Given the description of an element on the screen output the (x, y) to click on. 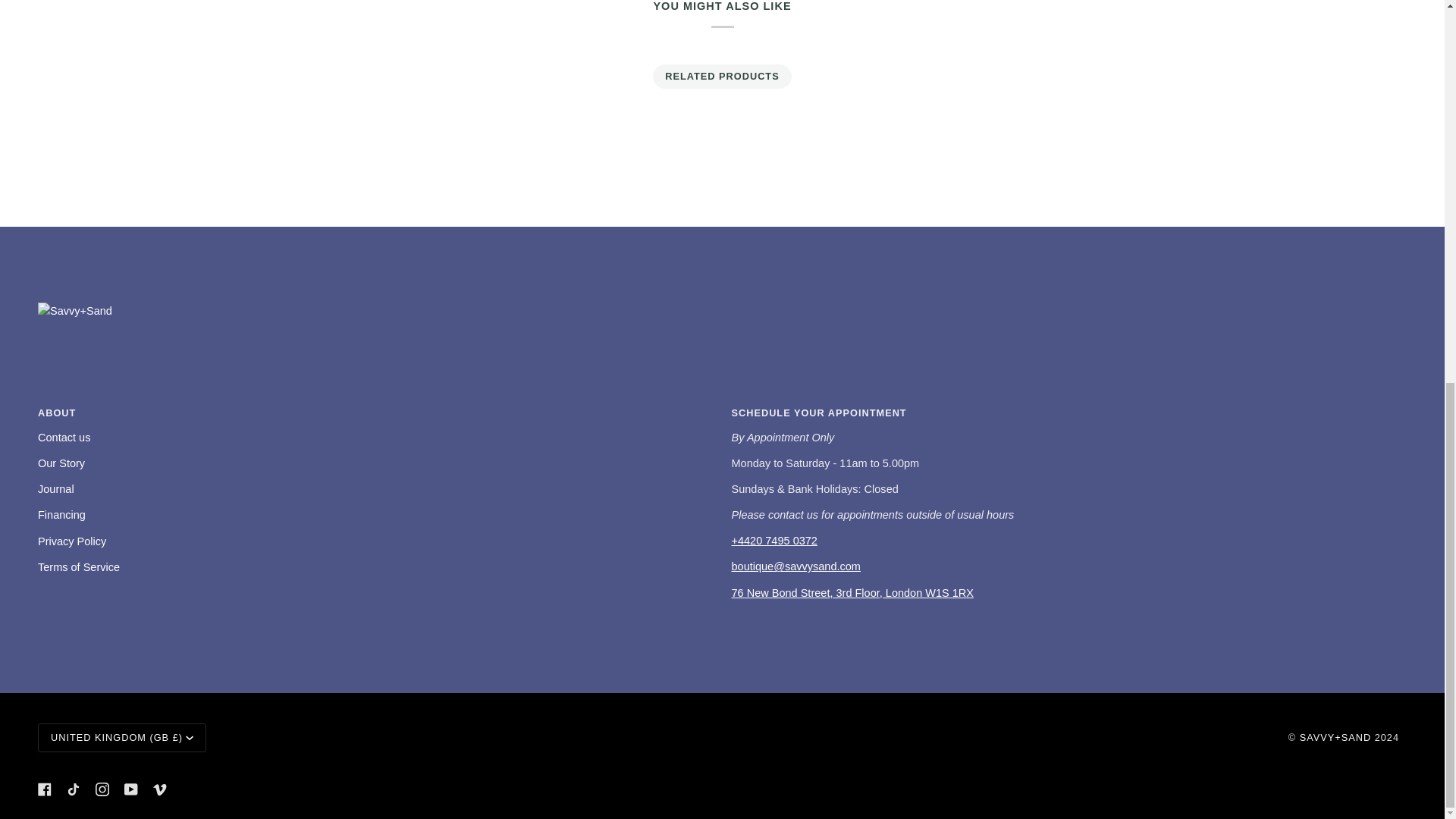
Vimeo (159, 789)
RELATED PRODUCTS (722, 76)
WhatsApp 02074950372 (773, 540)
Tiktok (73, 789)
YouTube (130, 789)
Facebook (43, 789)
Instagram (102, 789)
